Given the description of an element on the screen output the (x, y) to click on. 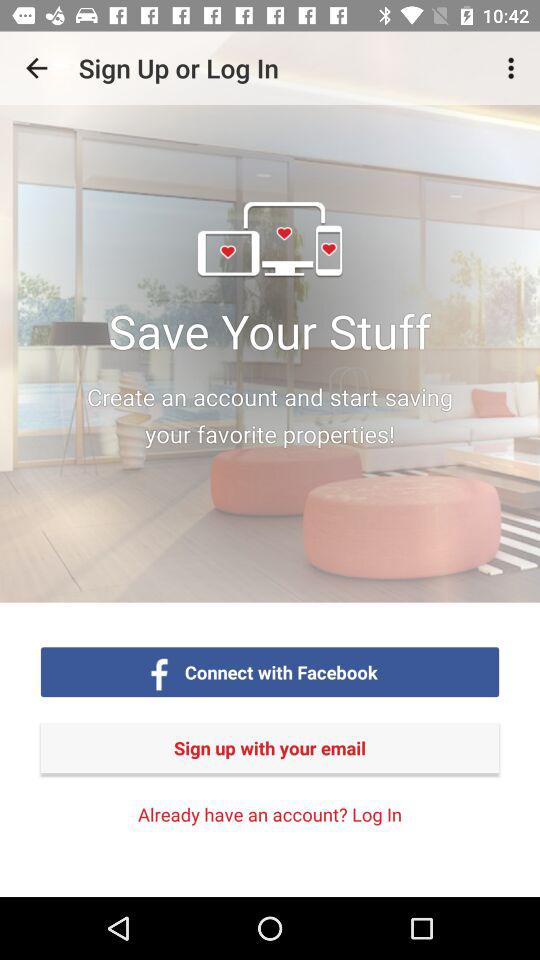
swipe to connect with facebook item (281, 672)
